Given the description of an element on the screen output the (x, y) to click on. 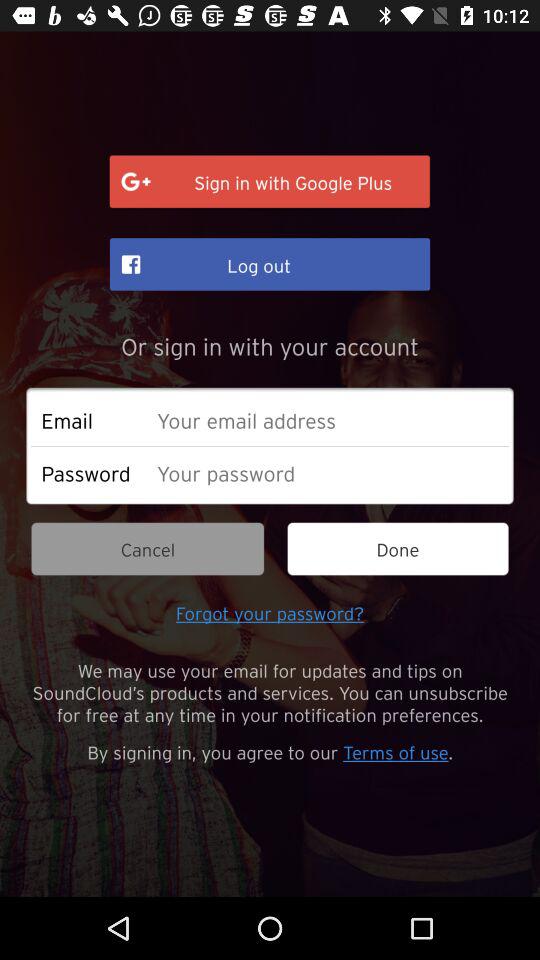
a strong password is long and complex (327, 472)
